Given the description of an element on the screen output the (x, y) to click on. 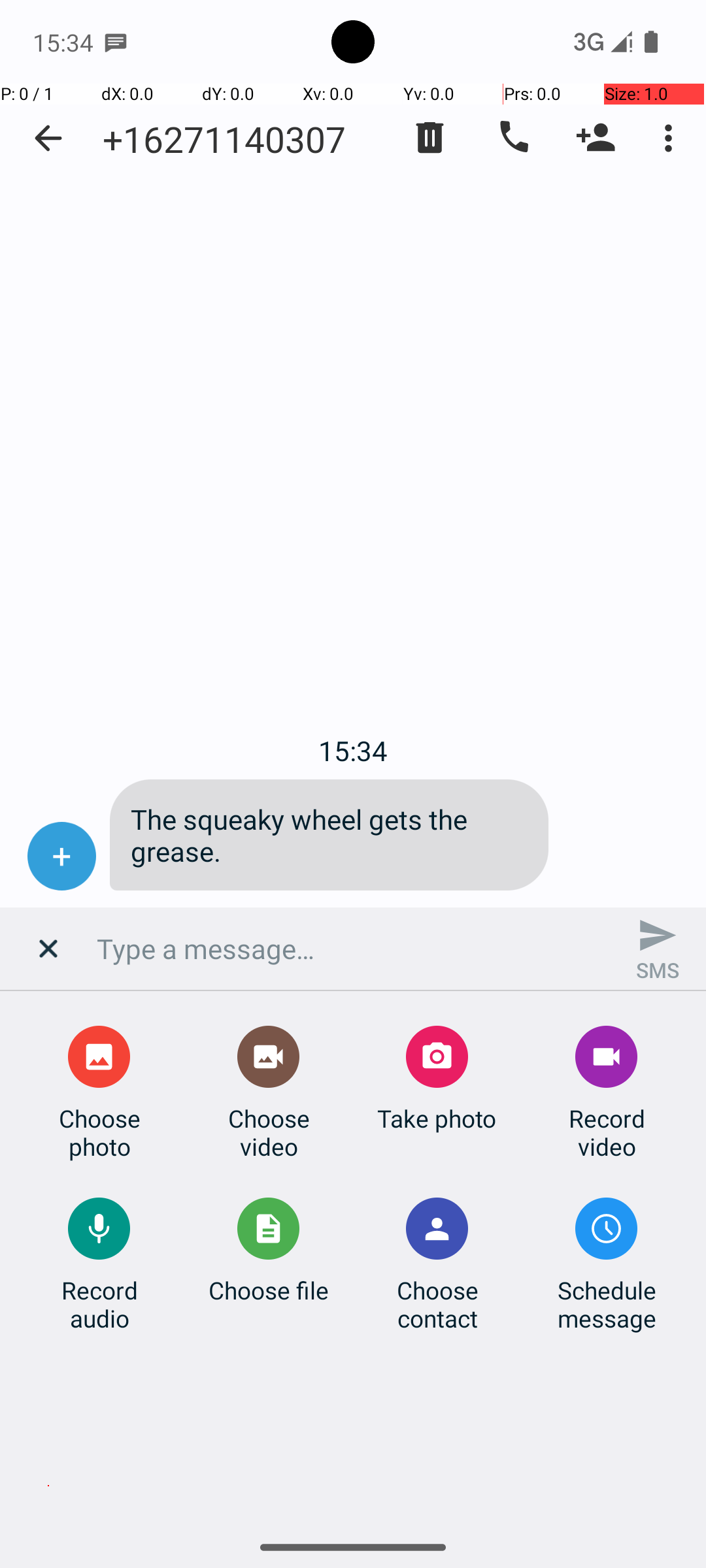
+16271140307 Element type: android.widget.TextView (223, 138)
Dial number Element type: android.widget.Button (512, 137)
Add Person Element type: android.widget.Button (595, 137)
Attachment Element type: android.widget.ImageView (49, 953)
Type a message… Element type: android.widget.EditText (352, 948)
SMS Element type: android.widget.Button (657, 948)
The squeaky wheel gets the grease. Element type: android.widget.TextView (328, 834)
Choose photo Element type: android.widget.TextView (98, 1131)
Choose video Element type: android.widget.TextView (268, 1131)
Take photo Element type: android.widget.TextView (436, 1117)
Record video Element type: android.widget.TextView (606, 1131)
Record audio Element type: android.widget.TextView (98, 1303)
Choose file Element type: android.widget.TextView (268, 1289)
Choose contact Element type: android.widget.TextView (436, 1303)
Schedule message Element type: android.widget.TextView (606, 1303)
